Given the description of an element on the screen output the (x, y) to click on. 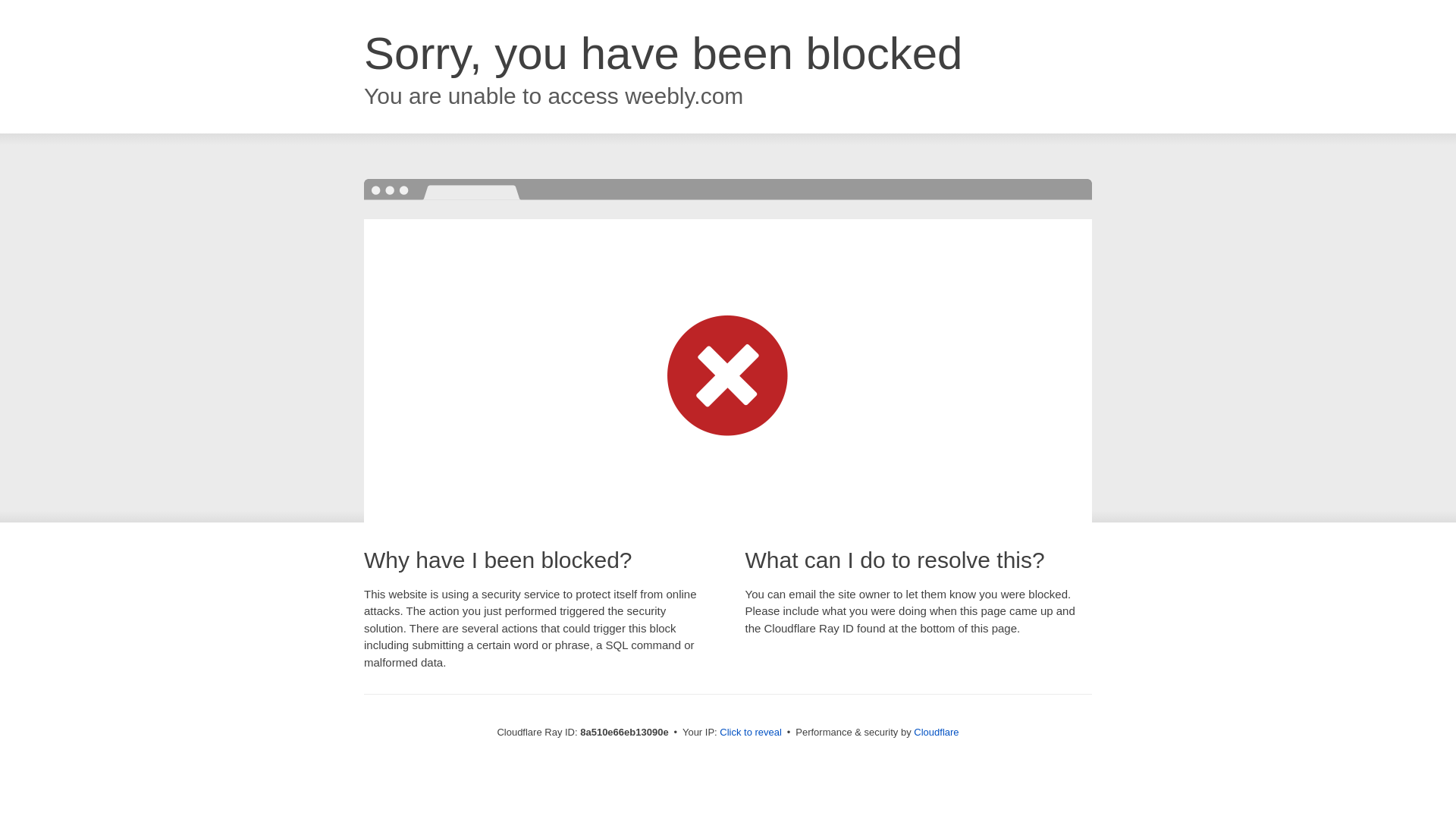
Click to reveal (750, 732)
Cloudflare (936, 731)
